Given the description of an element on the screen output the (x, y) to click on. 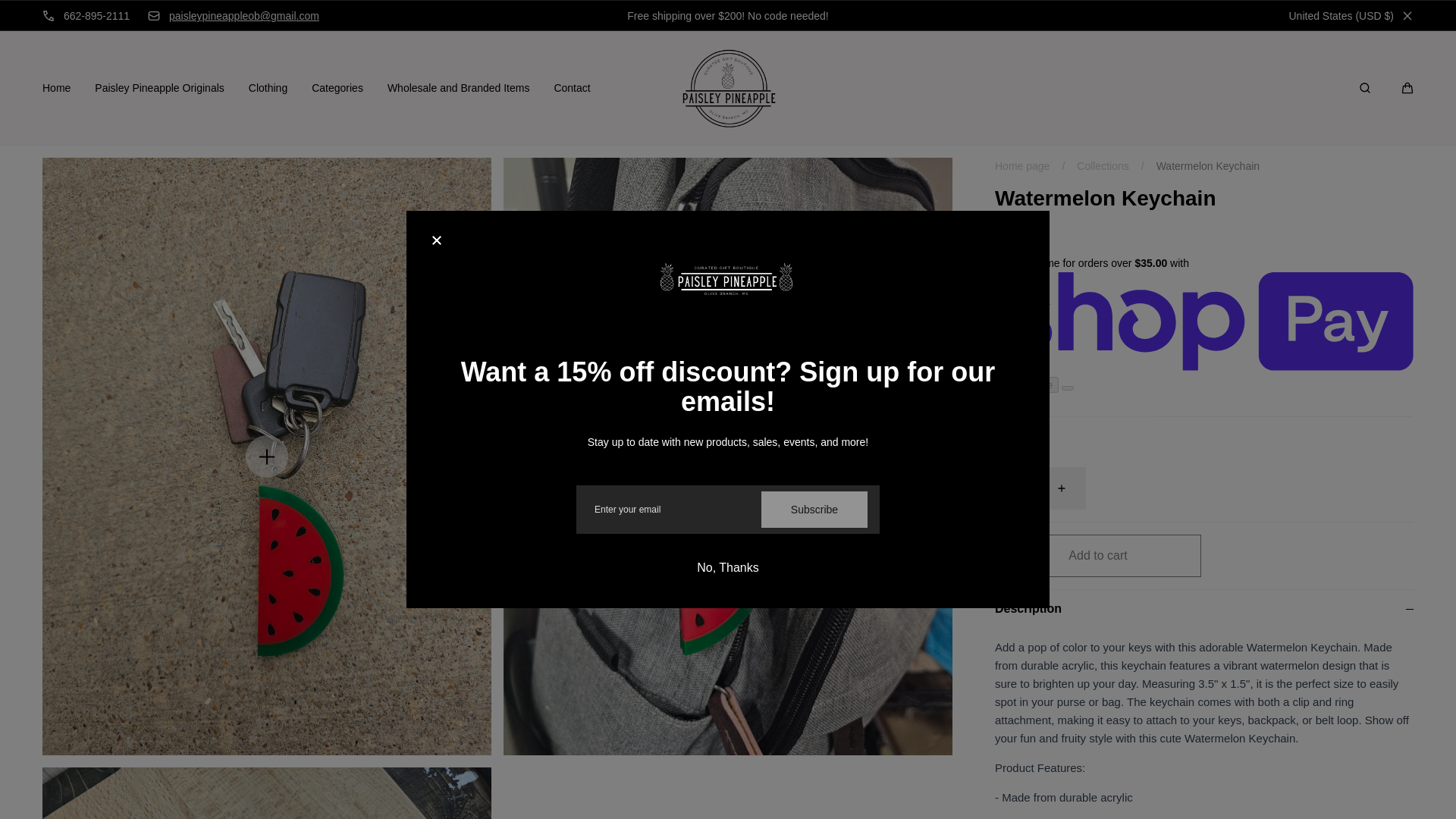
Add to cart (1097, 555)
Clothing (267, 87)
Cart (1406, 87)
Wholesale and Branded Items (458, 87)
662-895-2111 (85, 15)
Paisley Pineapple Originals (159, 87)
Home (55, 87)
Collections (1102, 166)
Paisley Pineapple (727, 87)
Contact (571, 87)
1 (1040, 487)
No, Thanks (727, 567)
Cart (1406, 87)
Increase (1070, 487)
Subscribe (814, 509)
